Given the description of an element on the screen output the (x, y) to click on. 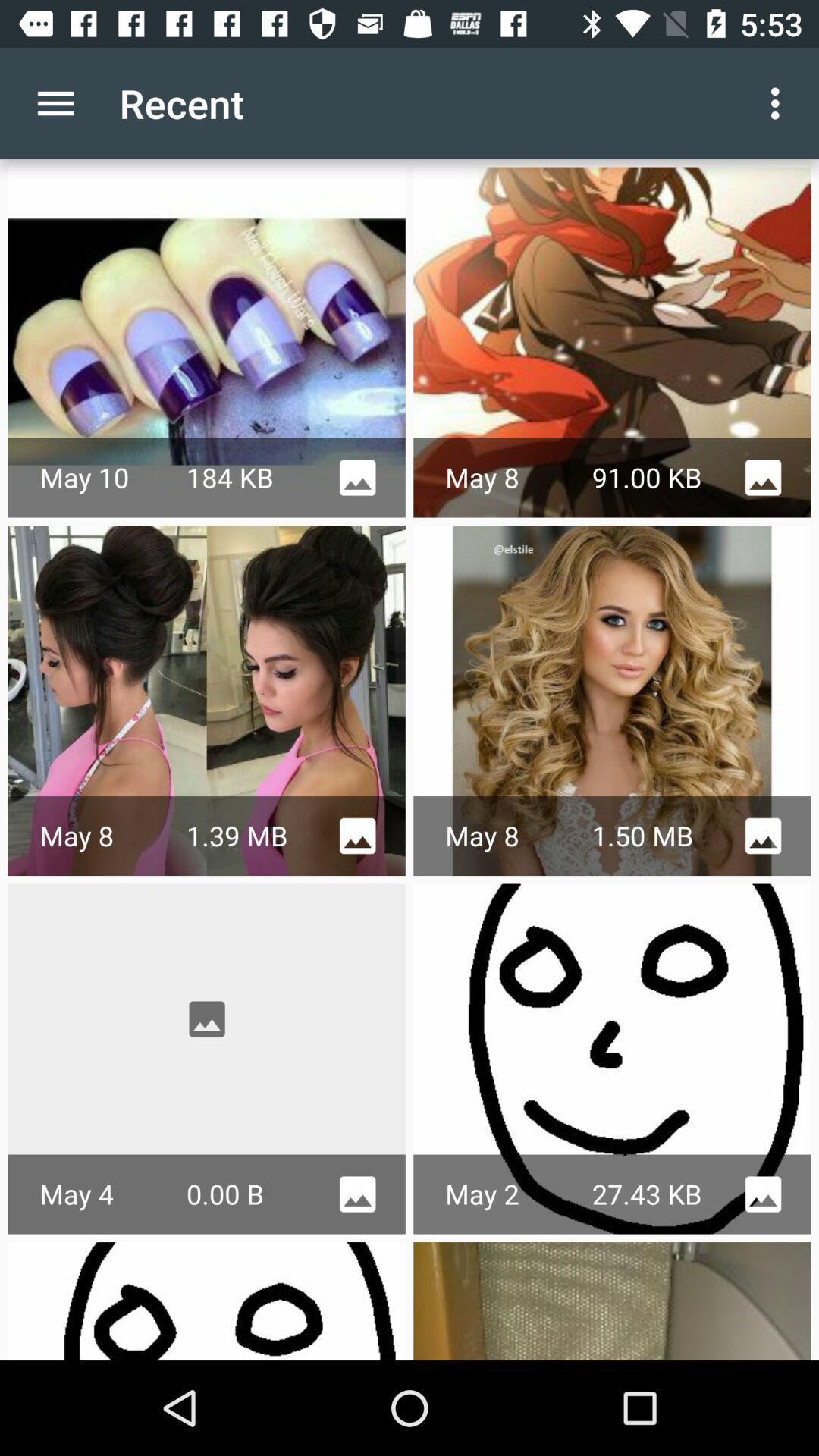
turn off the app next to the recent item (779, 103)
